Given the description of an element on the screen output the (x, y) to click on. 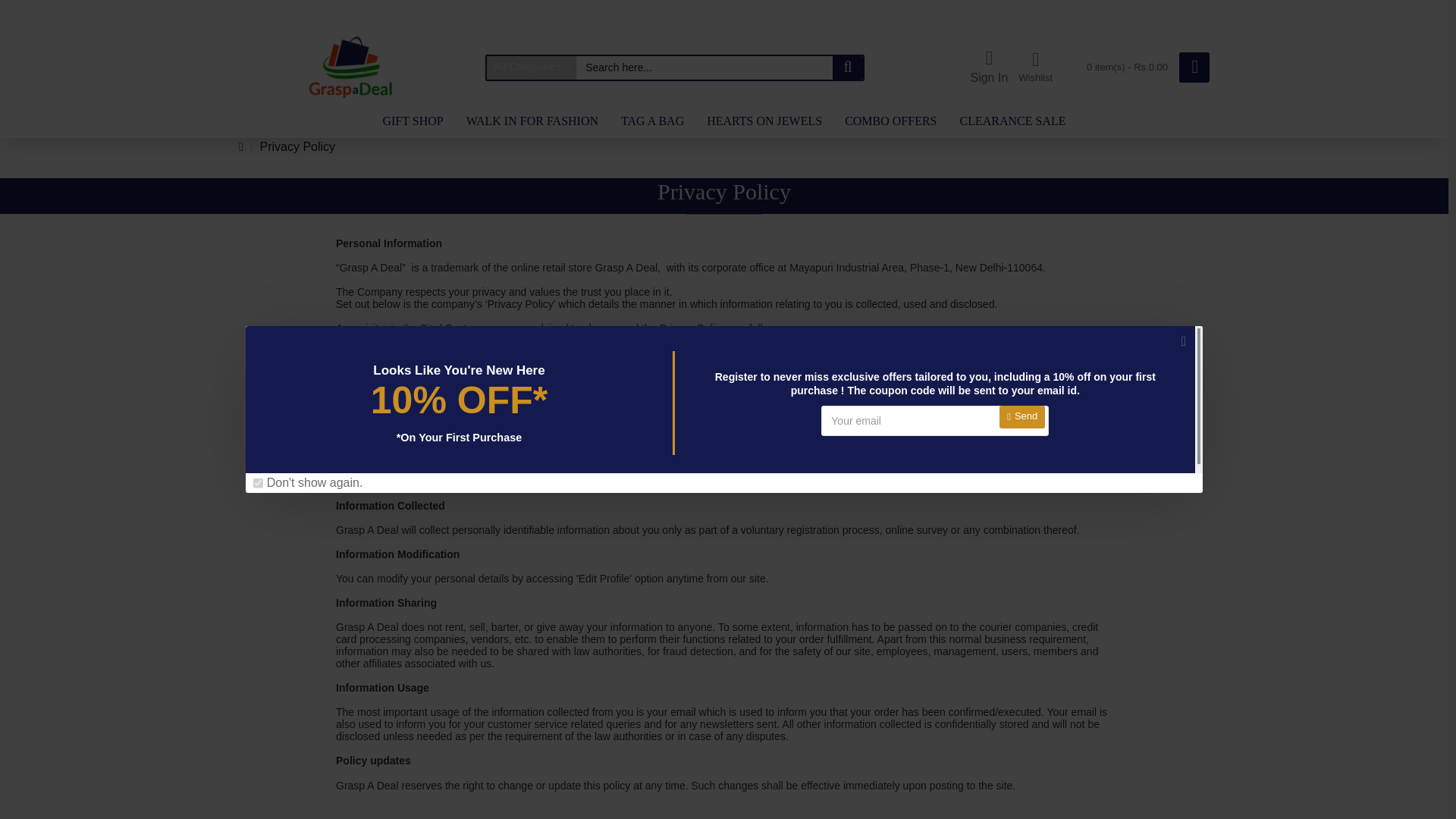
Sign In (988, 67)
TAG A BAG (652, 121)
Wishlist (1035, 67)
Graspa Deal (352, 67)
GIFT SHOP (412, 121)
on (258, 482)
WALK IN FOR FASHION (532, 121)
Send (1021, 416)
